Given the description of an element on the screen output the (x, y) to click on. 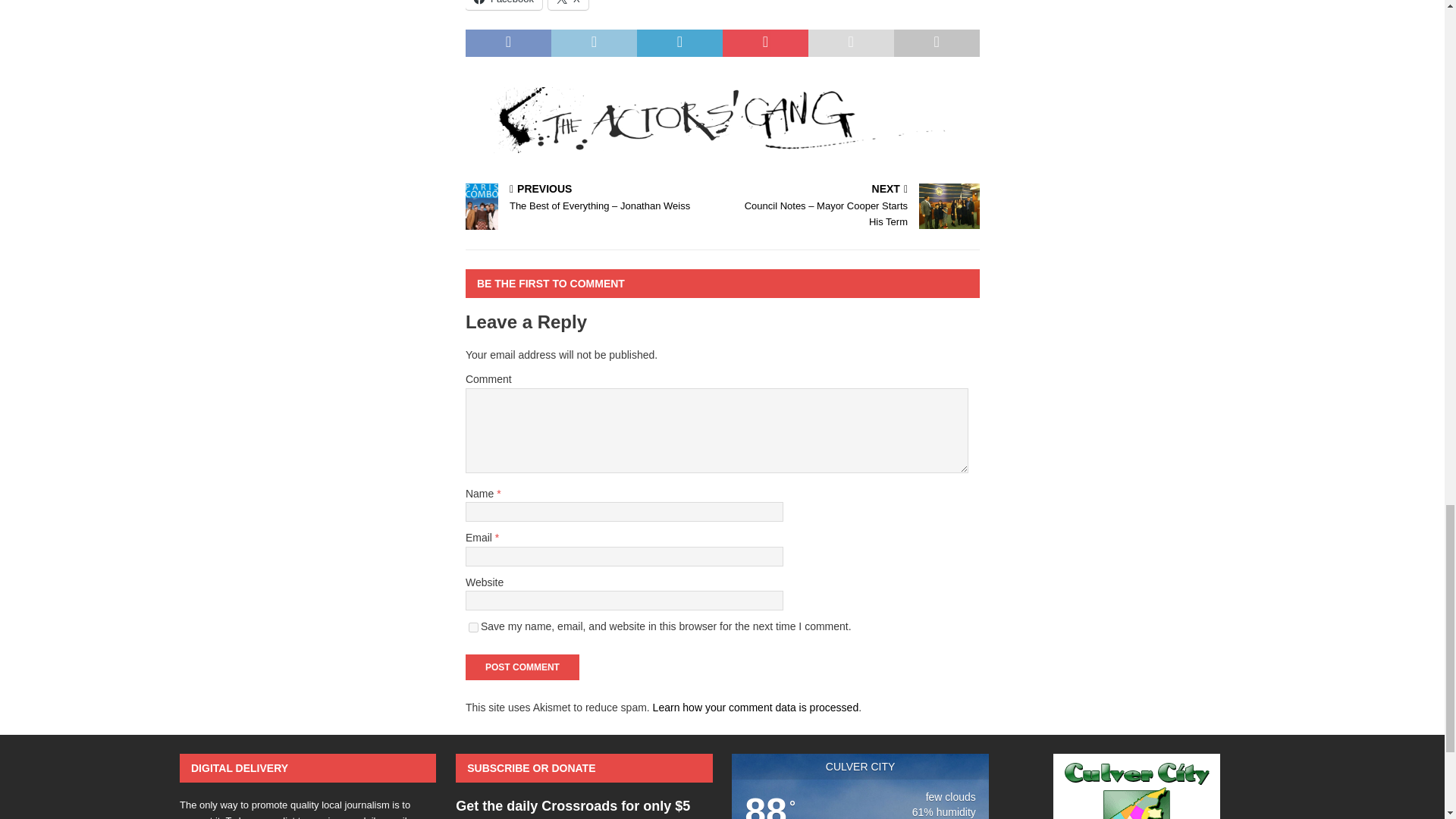
yes (473, 627)
Post Comment (522, 667)
